Given the description of an element on the screen output the (x, y) to click on. 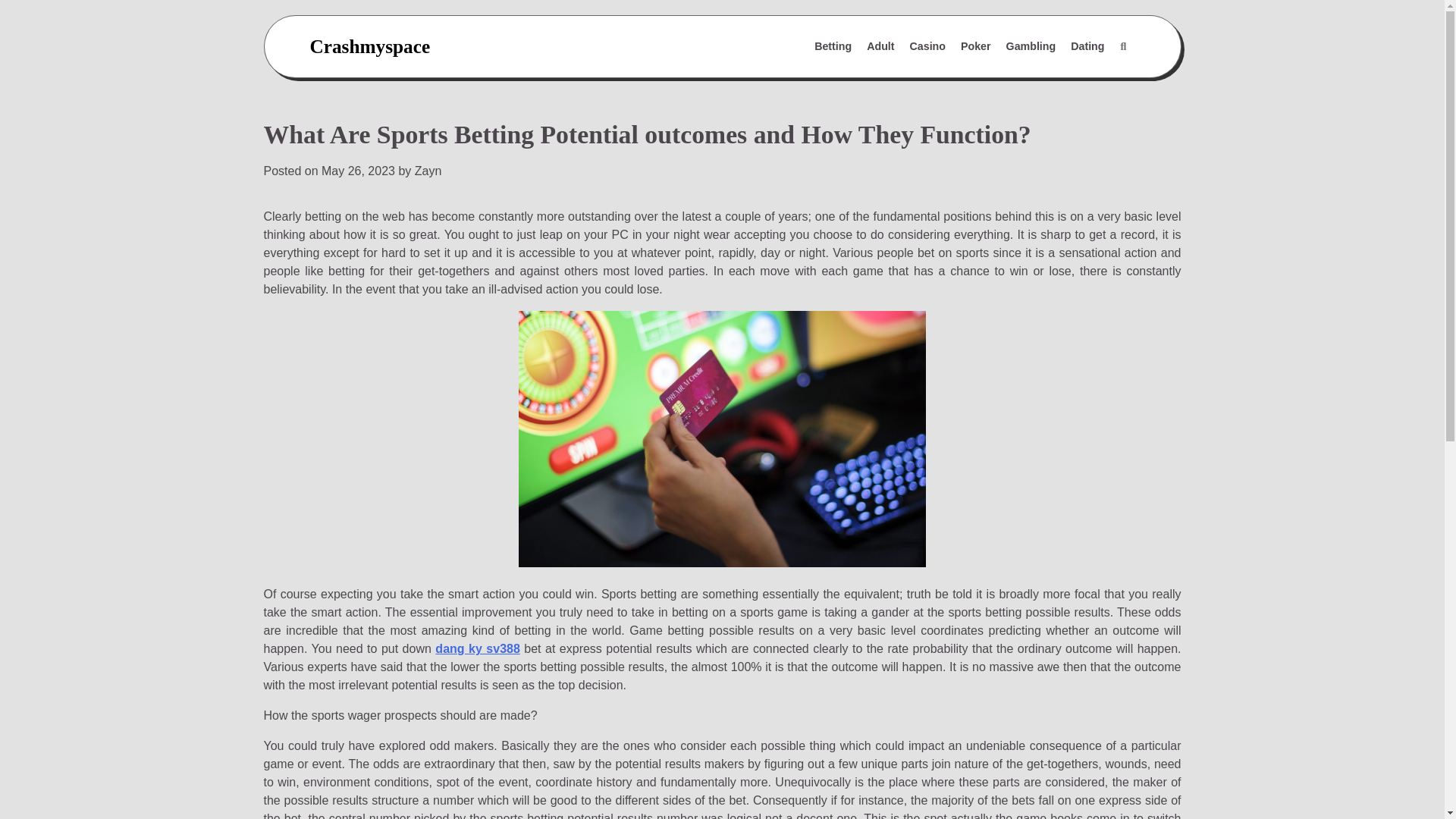
Zayn (428, 170)
Search (1086, 83)
dang ky sv388 (477, 648)
Gambling (1031, 46)
Crashmyspace (368, 46)
Adult (880, 46)
Casino (927, 46)
Search (1123, 47)
Poker (975, 46)
Dating (1087, 46)
Betting (832, 46)
May 26, 2023 (357, 170)
